Given the description of an element on the screen output the (x, y) to click on. 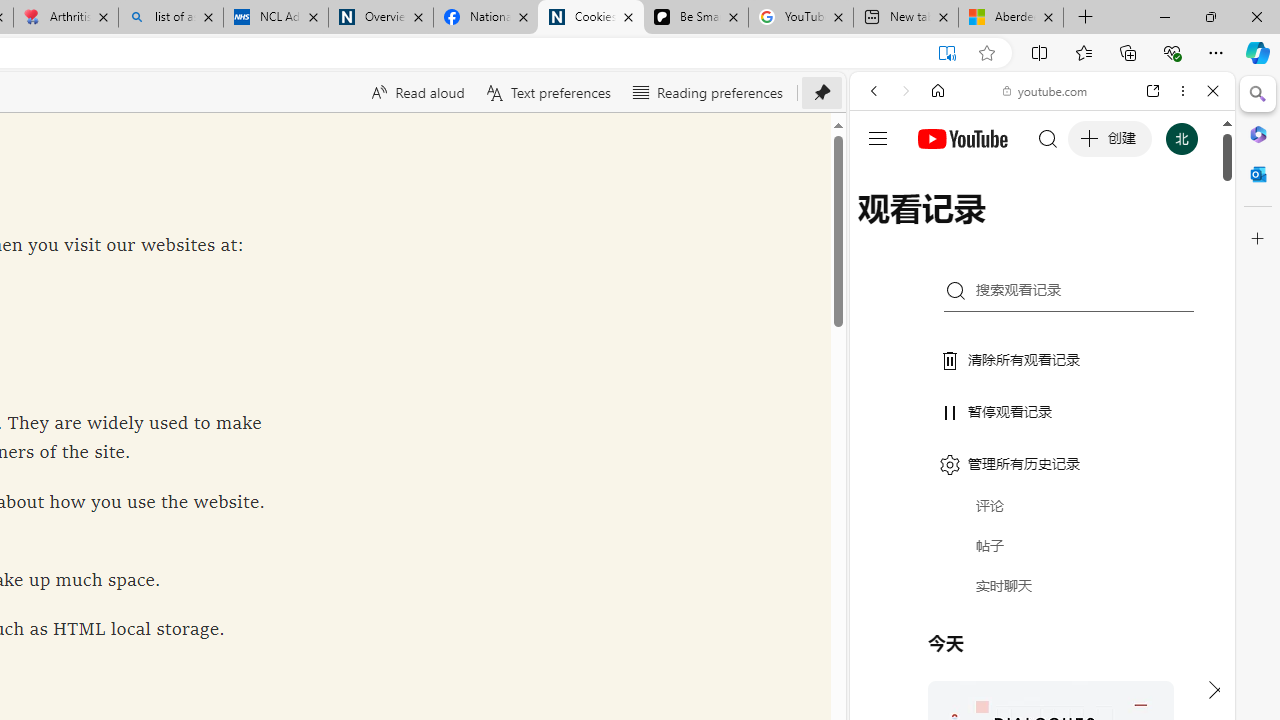
Unpin toolbar (821, 92)
Show More Music (1164, 546)
